Given the description of an element on the screen output the (x, y) to click on. 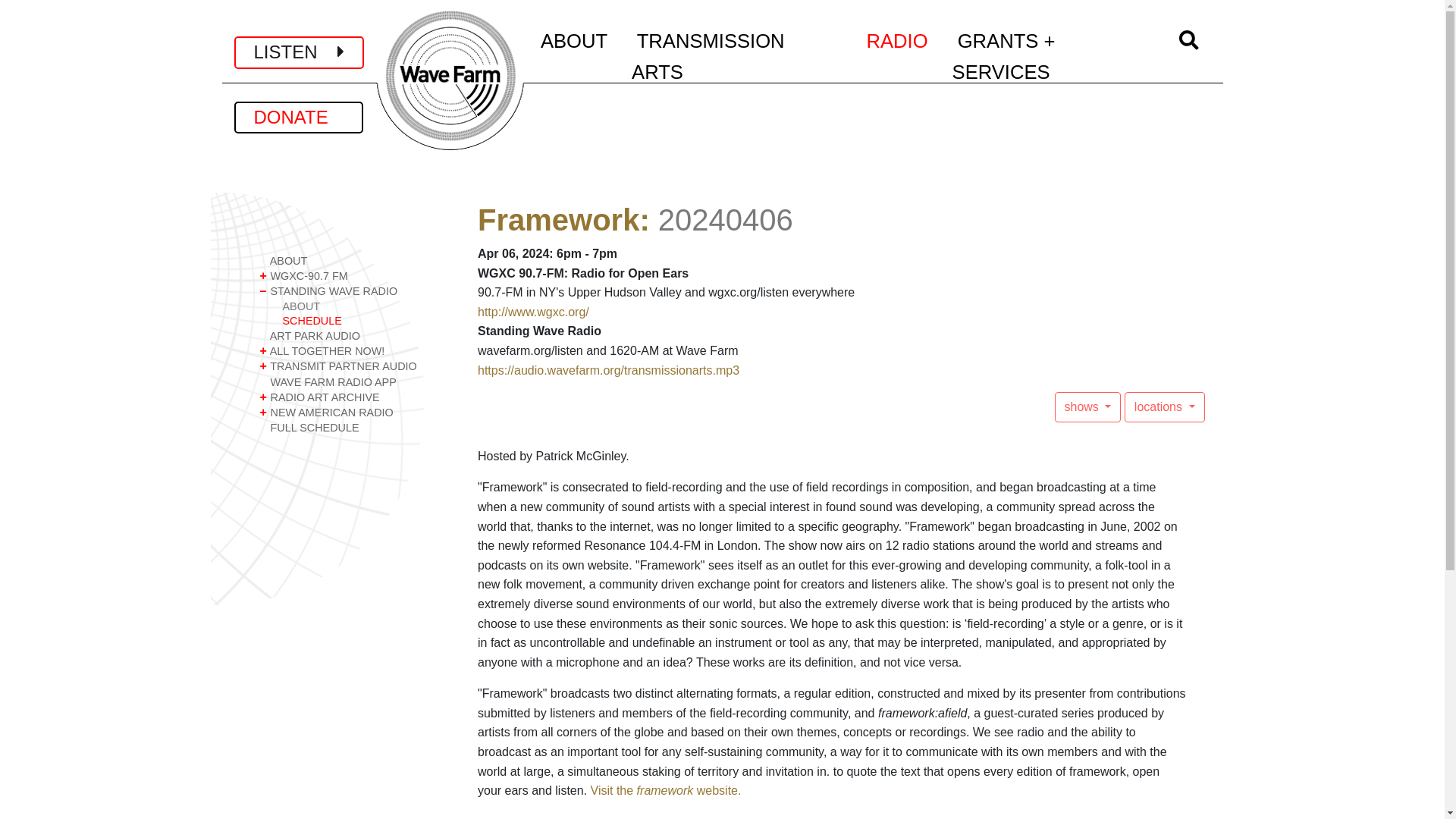
DONATE    (297, 117)
  ABOUT (355, 260)
LISTEN     (298, 51)
